Given the description of an element on the screen output the (x, y) to click on. 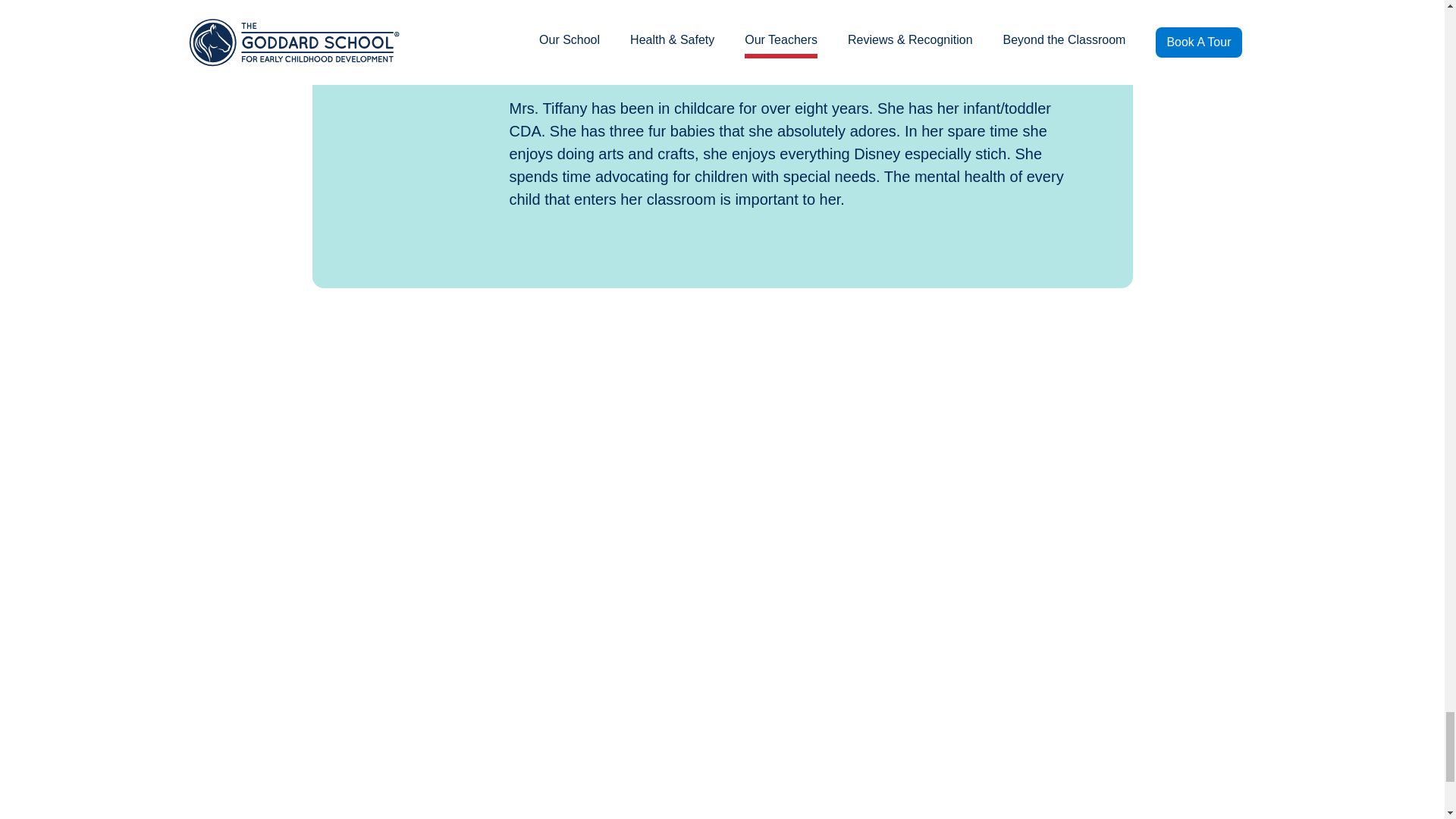
Texas (244, 475)
About Us (543, 760)
Careers at GSL (707, 760)
News (828, 760)
Flower Mound (322, 475)
SIGN UP (821, 624)
School Locator (198, 490)
School Locations (564, 790)
